Given the description of an element on the screen output the (x, y) to click on. 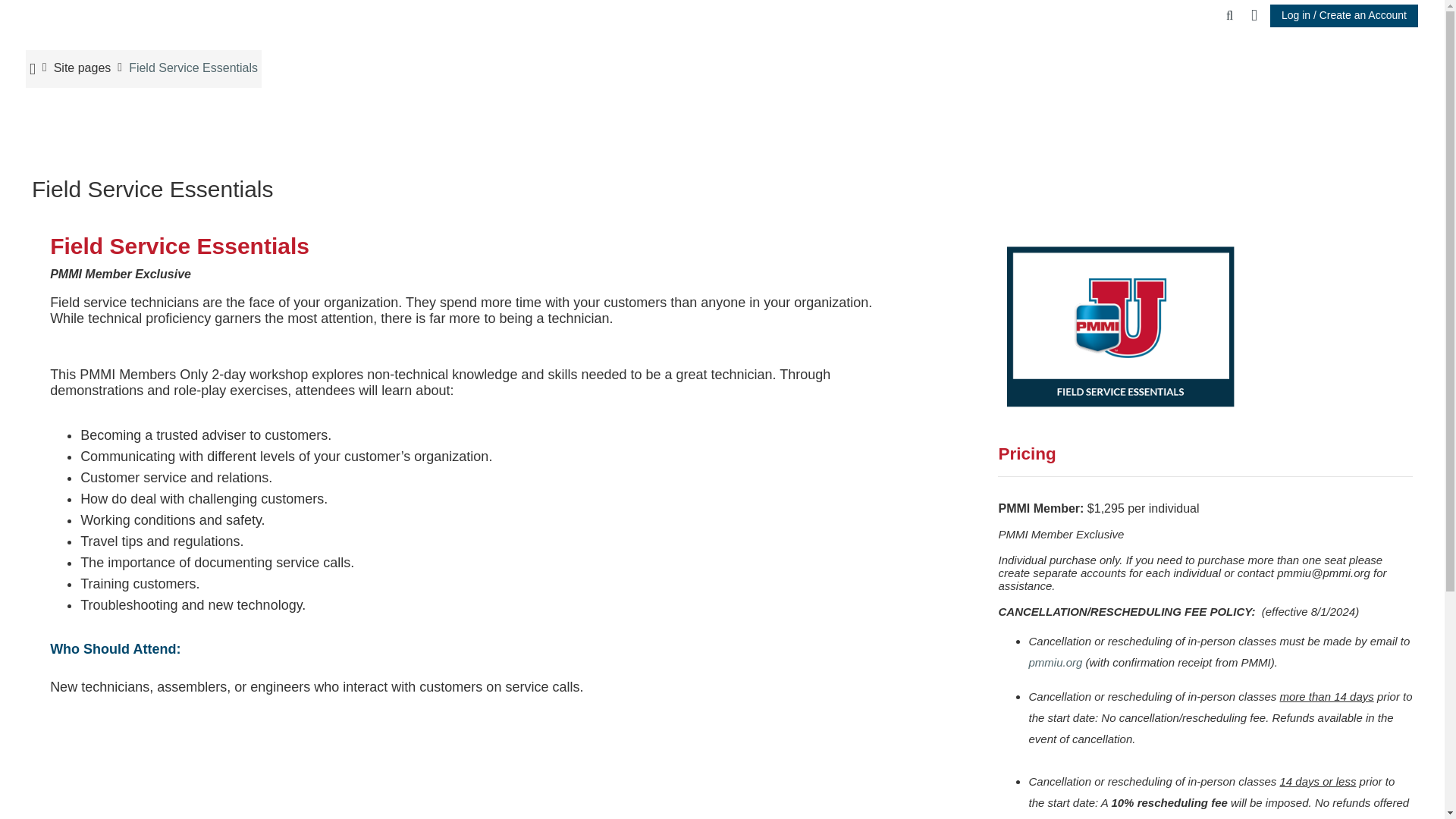
pmmiu.org (1054, 662)
PMMI (82, 67)
Page (193, 67)
Field Service Essentials (193, 67)
